Given the description of an element on the screen output the (x, y) to click on. 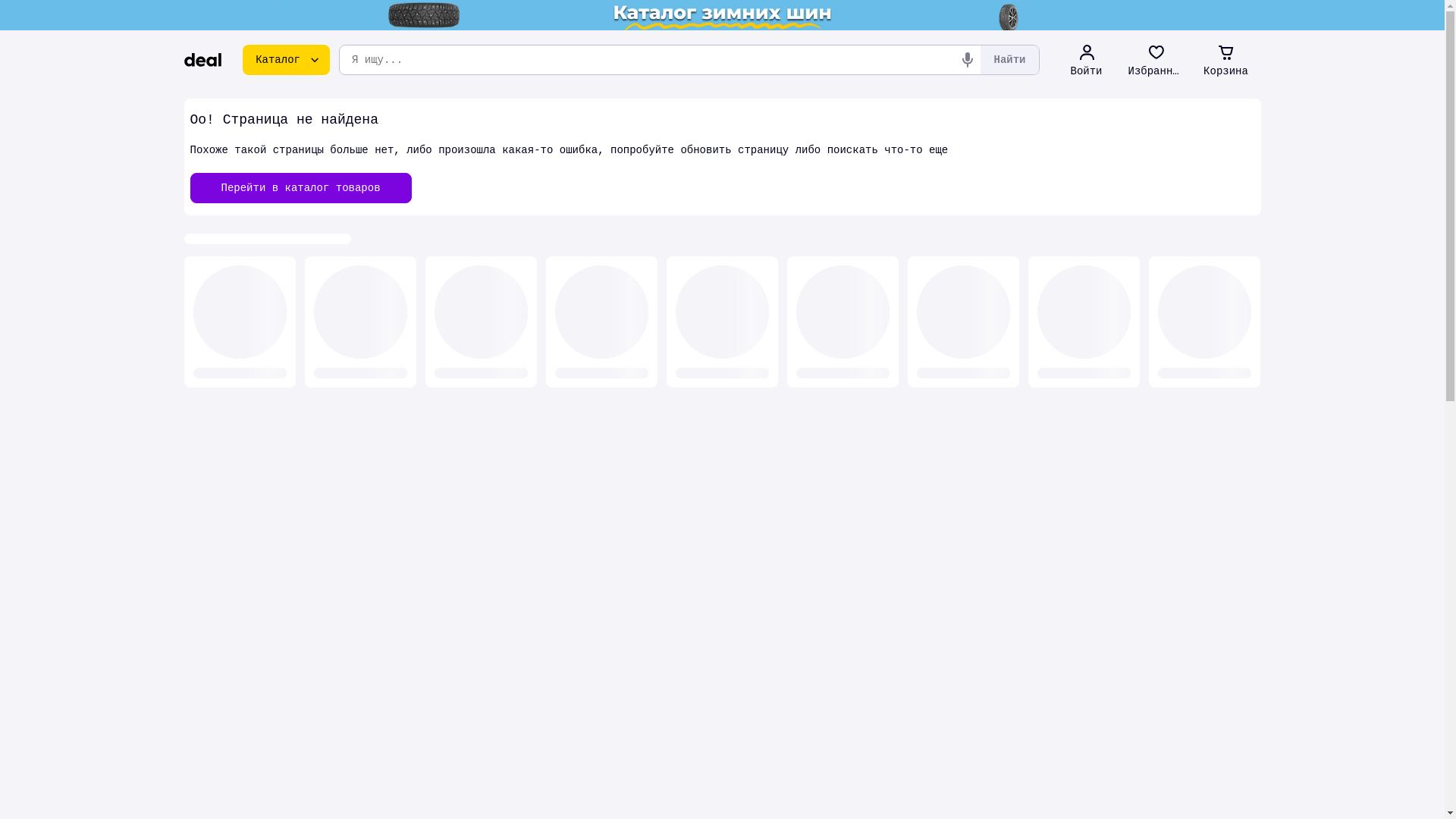
deal.by Element type: hover (202, 59)
